Given the description of an element on the screen output the (x, y) to click on. 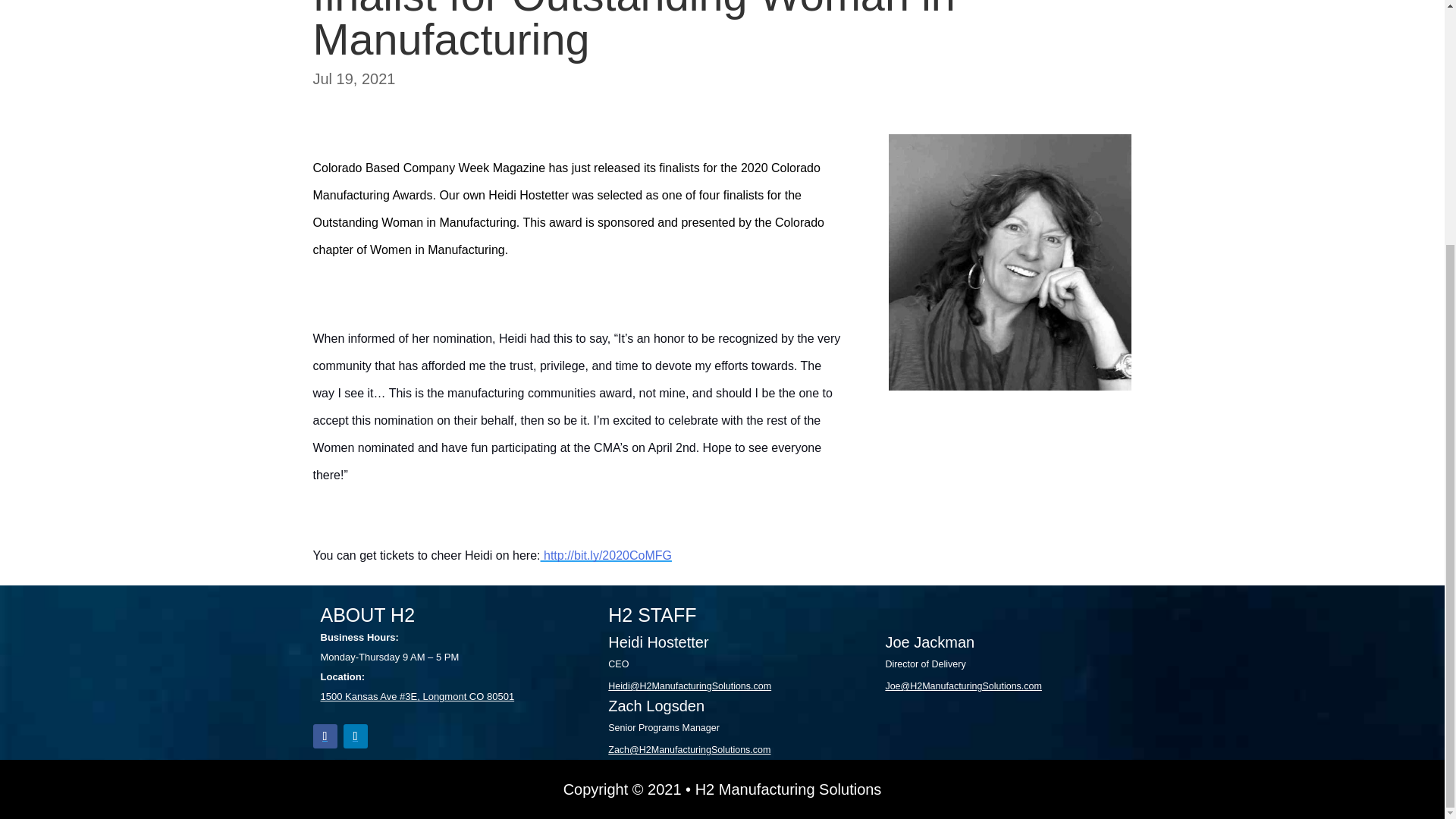
Heidi 3 (1009, 262)
Follow on LinkedIn (354, 735)
Follow on Facebook (324, 735)
